Given the description of an element on the screen output the (x, y) to click on. 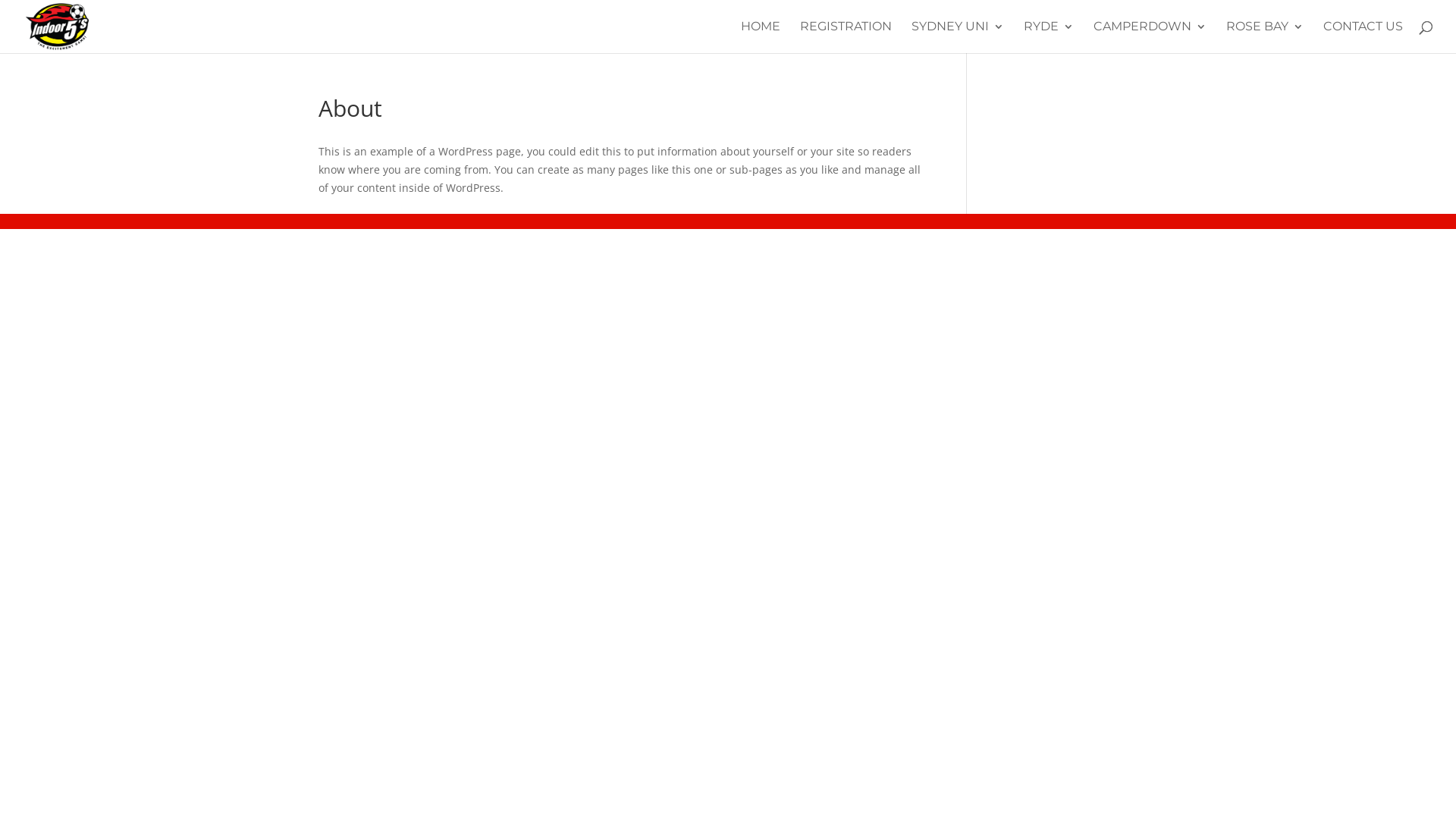
ROSE BAY Element type: text (1264, 37)
REGISTRATION Element type: text (845, 37)
RYDE Element type: text (1048, 37)
CAMPERDOWN Element type: text (1149, 37)
SYDNEY UNI Element type: text (957, 37)
HOME Element type: text (760, 37)
CONTACT US Element type: text (1362, 37)
